Given the description of an element on the screen output the (x, y) to click on. 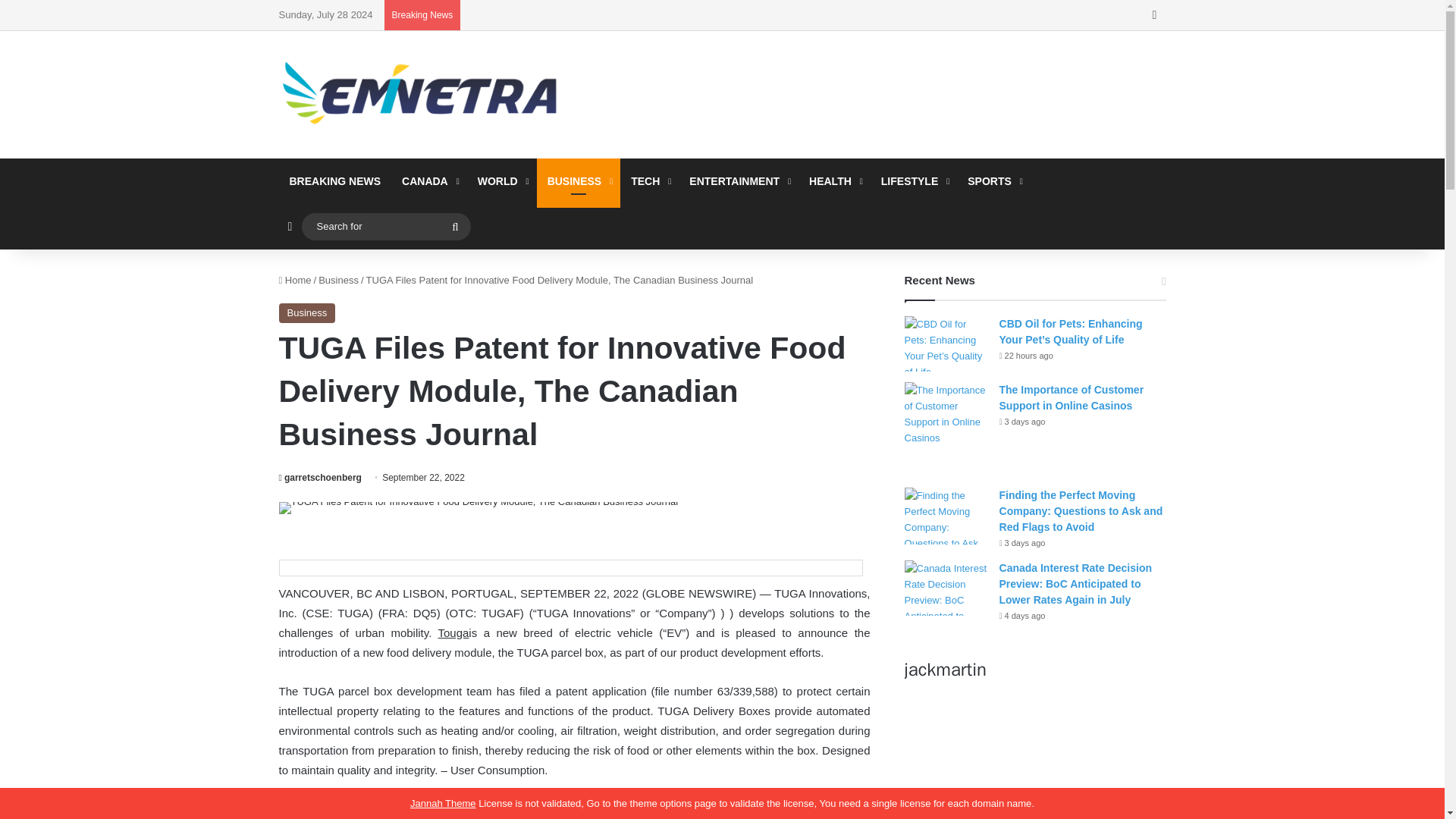
Business (338, 279)
CANADA (429, 180)
ENTERTAINMENT (737, 180)
LIFESTYLE (913, 180)
Search for (454, 225)
Home (295, 279)
Eminetra Canada (419, 94)
garretschoenberg (320, 477)
TECH (649, 180)
WORLD (502, 180)
HEALTH (833, 180)
BREAKING NEWS (335, 180)
Business (307, 312)
Jannah Theme (443, 803)
